Given the description of an element on the screen output the (x, y) to click on. 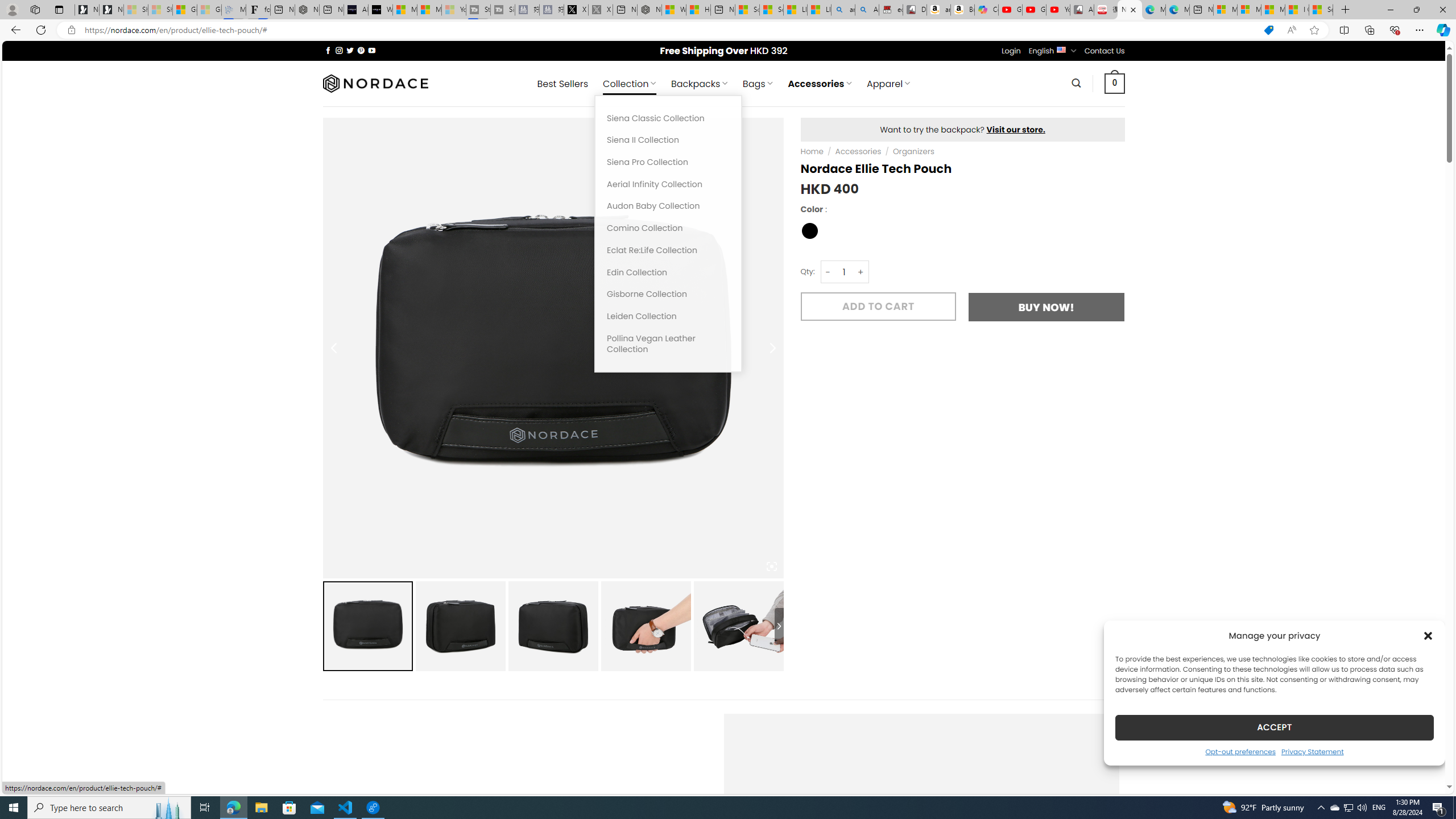
Nordace - #1 Japanese Best-Seller - Siena Smart Backpack (306, 9)
Comino Collection (668, 228)
X (575, 9)
Accessories (857, 151)
Streaming Coverage | T3 - Sleeping (478, 9)
Nordace (374, 83)
Aerial Infinity Collection (668, 183)
Siena II Collection (668, 140)
Nordace - My Account (648, 9)
Copilot (986, 9)
